Given the description of an element on the screen output the (x, y) to click on. 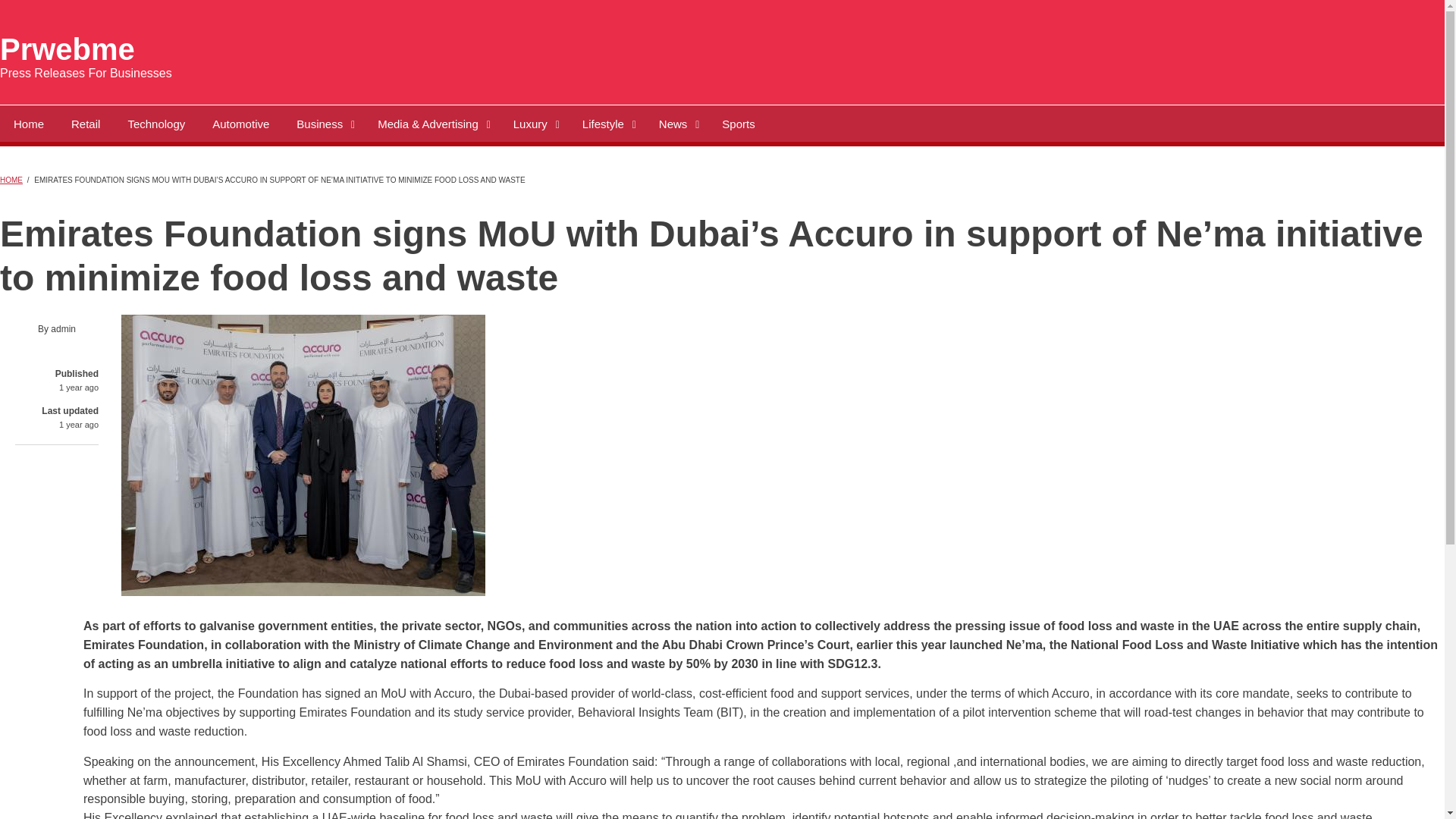
Automotive (240, 123)
Prwebme (67, 49)
Home (67, 49)
Technology (155, 123)
HOME (11, 180)
News (677, 123)
Retail (85, 123)
Home (29, 123)
Sports (737, 123)
